Given the description of an element on the screen output the (x, y) to click on. 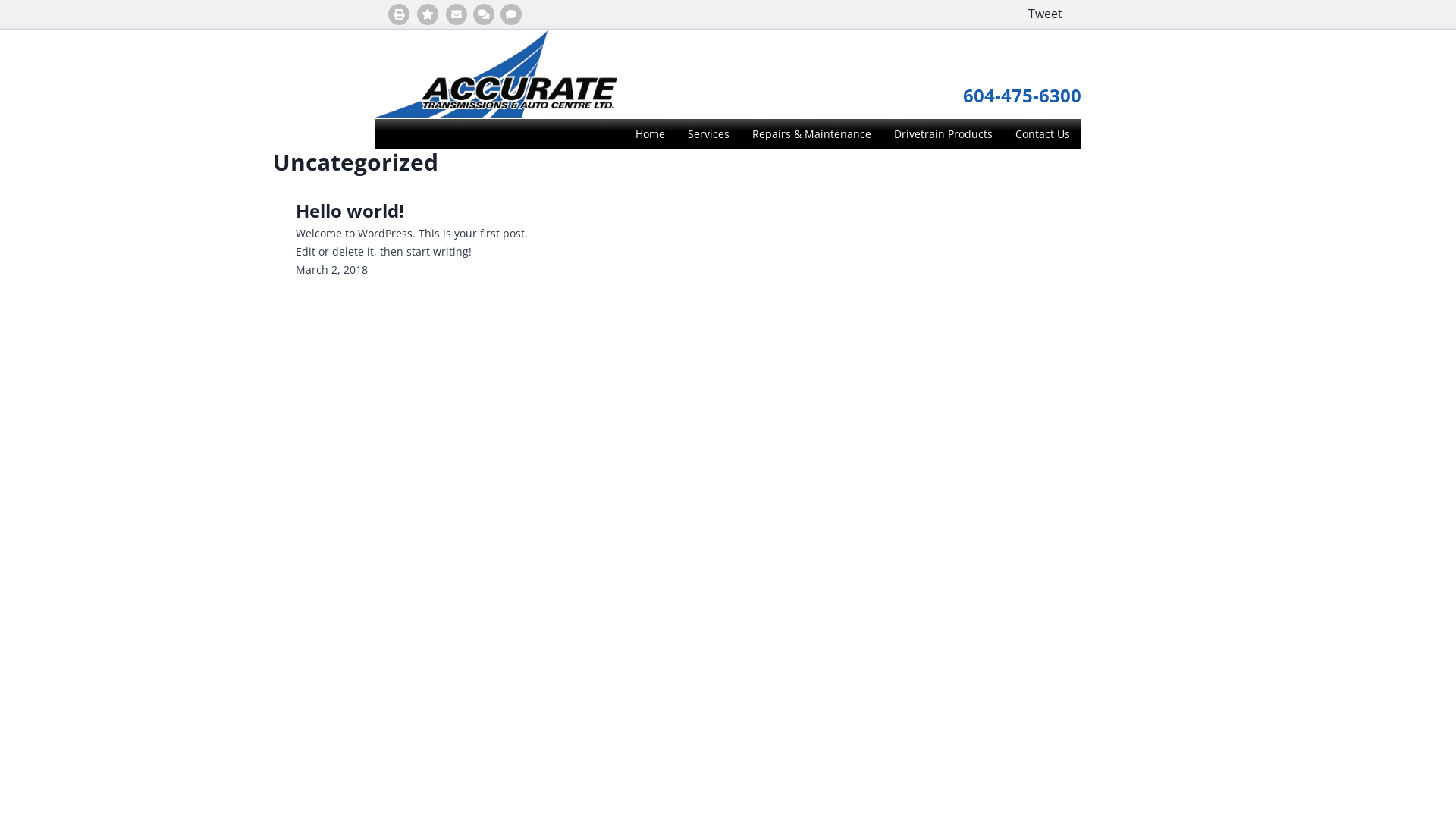
Contact Us Element type: text (1042, 134)
Hello world! Element type: text (349, 210)
Repairs & Maintenance Element type: text (811, 134)
Services Element type: text (708, 134)
Home Element type: text (650, 134)
Tweet Element type: text (1045, 13)
Drivetrain Products Element type: text (943, 134)
